Given the description of an element on the screen output the (x, y) to click on. 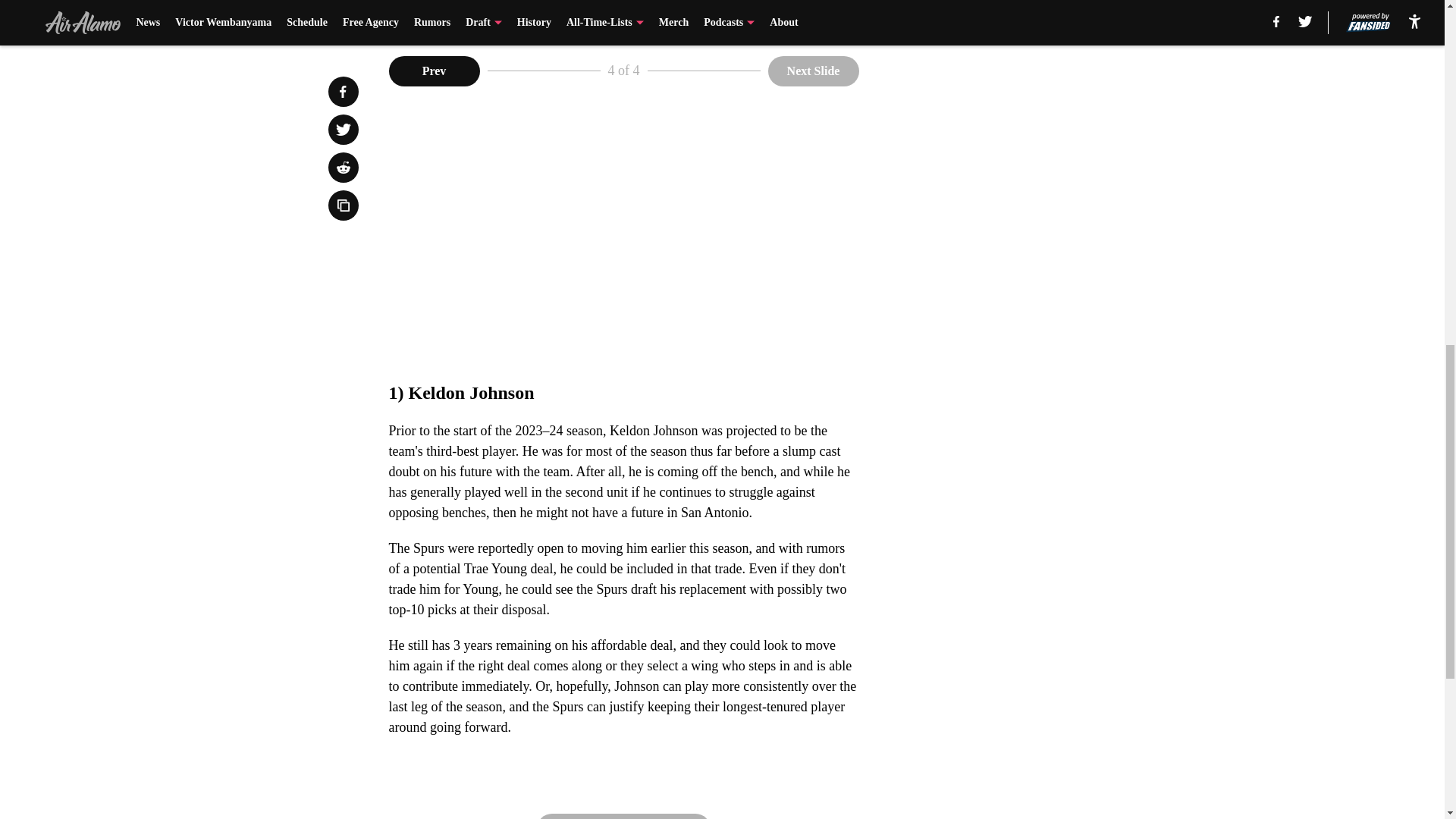
Prev (433, 71)
Next Slide (813, 71)
Next Slide (624, 816)
